Given the description of an element on the screen output the (x, y) to click on. 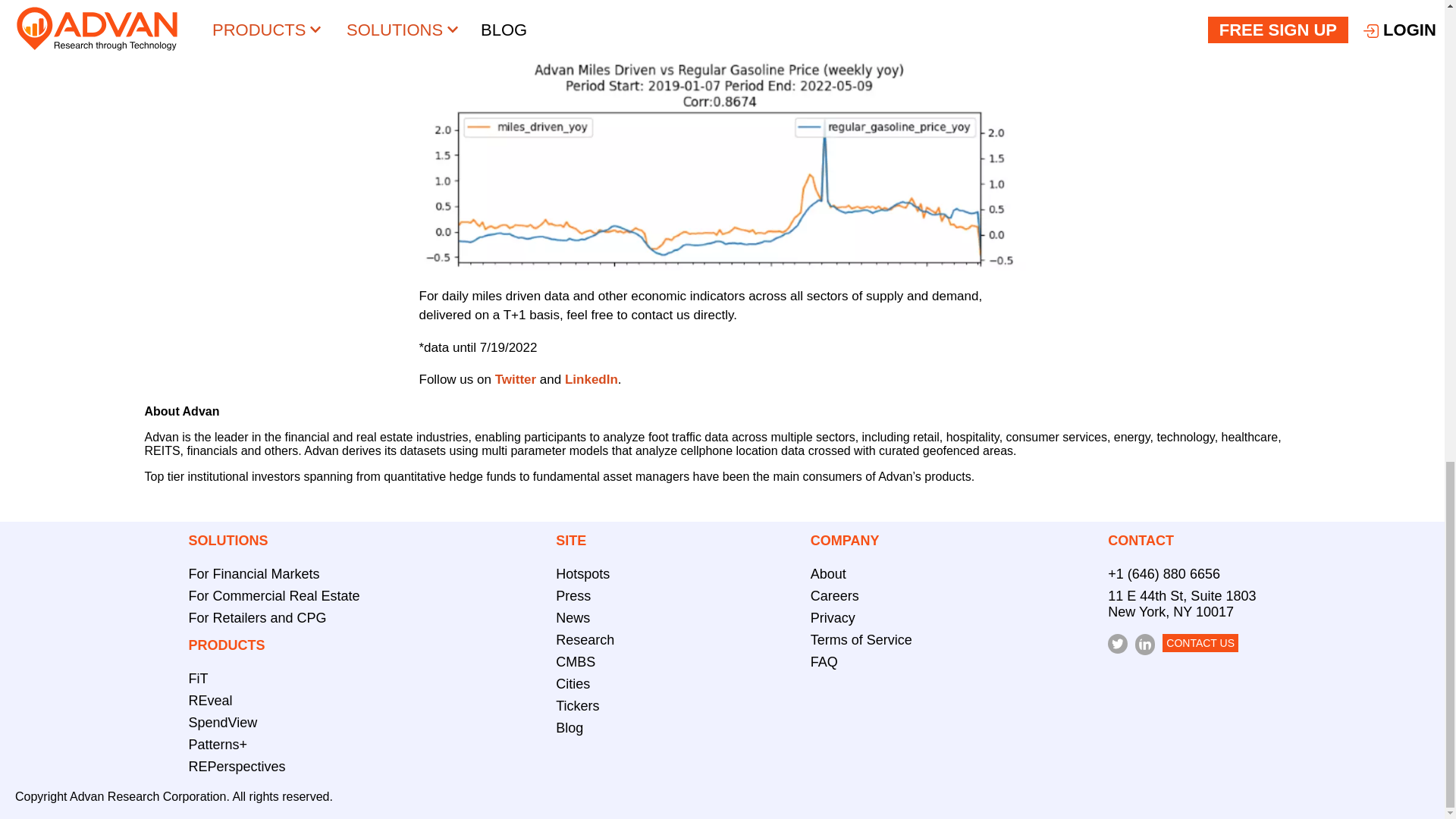
SpendView (223, 722)
Advan Miles driven index vs gas price correlation (722, 164)
Privacy (833, 617)
REveal (210, 700)
News (572, 617)
CONTACT US (1200, 642)
FiT (198, 678)
Research (585, 639)
CMBS (575, 661)
Tickers (577, 705)
